Given the description of an element on the screen output the (x, y) to click on. 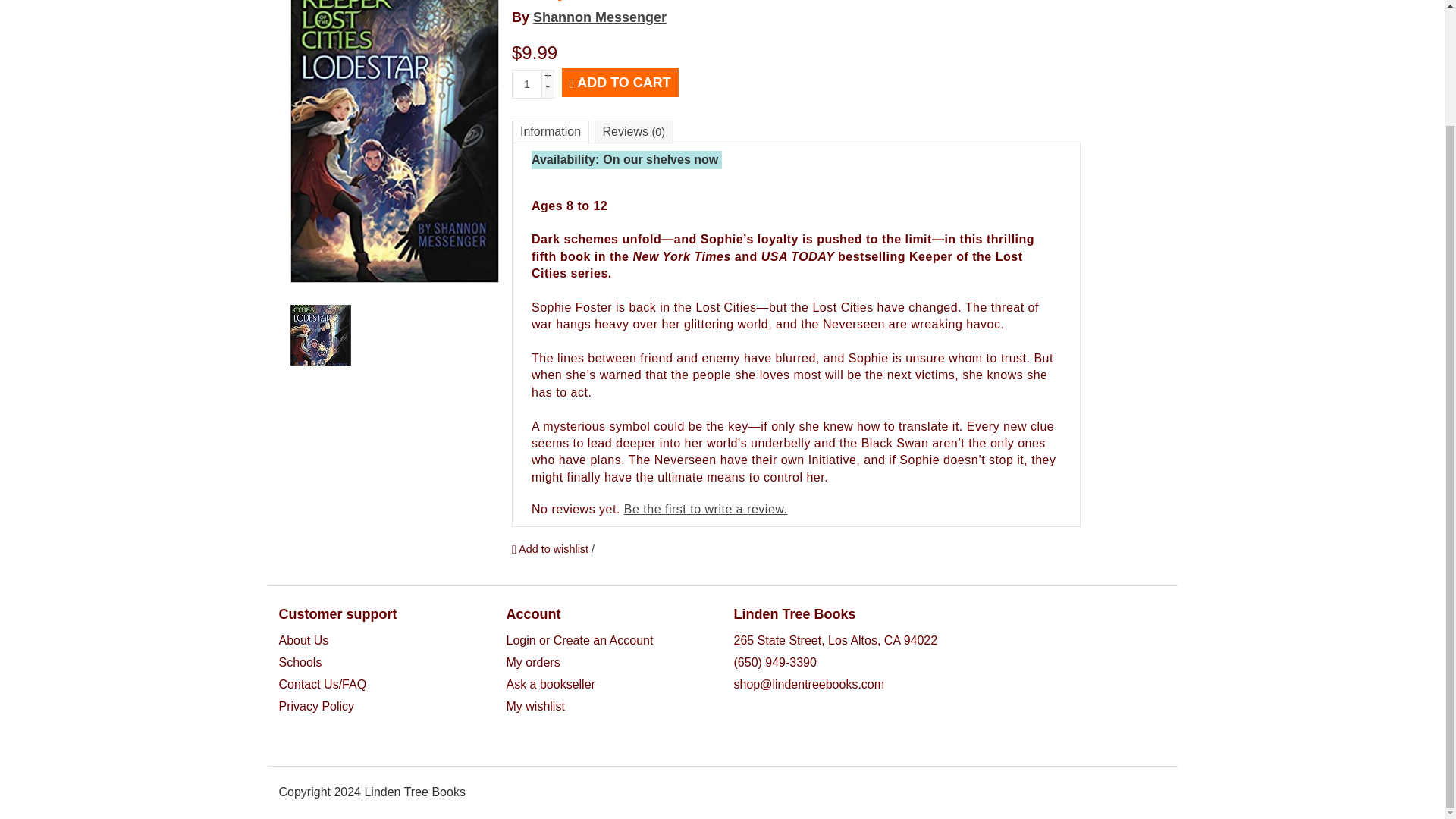
Add to wishlist (551, 548)
Add to cart (620, 82)
Pin It (566, 568)
Be the first to write a review. (705, 508)
1 (526, 83)
Search for more titles by this author (599, 17)
Schools (300, 662)
Shannon Messenger (599, 17)
Aladdin Keeper of the Lost Cities 05 Lodestar (319, 334)
- (547, 86)
ADD TO CART (620, 82)
About Us (304, 640)
Share on Tumblr (611, 568)
Share on Facebook (520, 568)
Add to wishlist (551, 548)
